Given the description of an element on the screen output the (x, y) to click on. 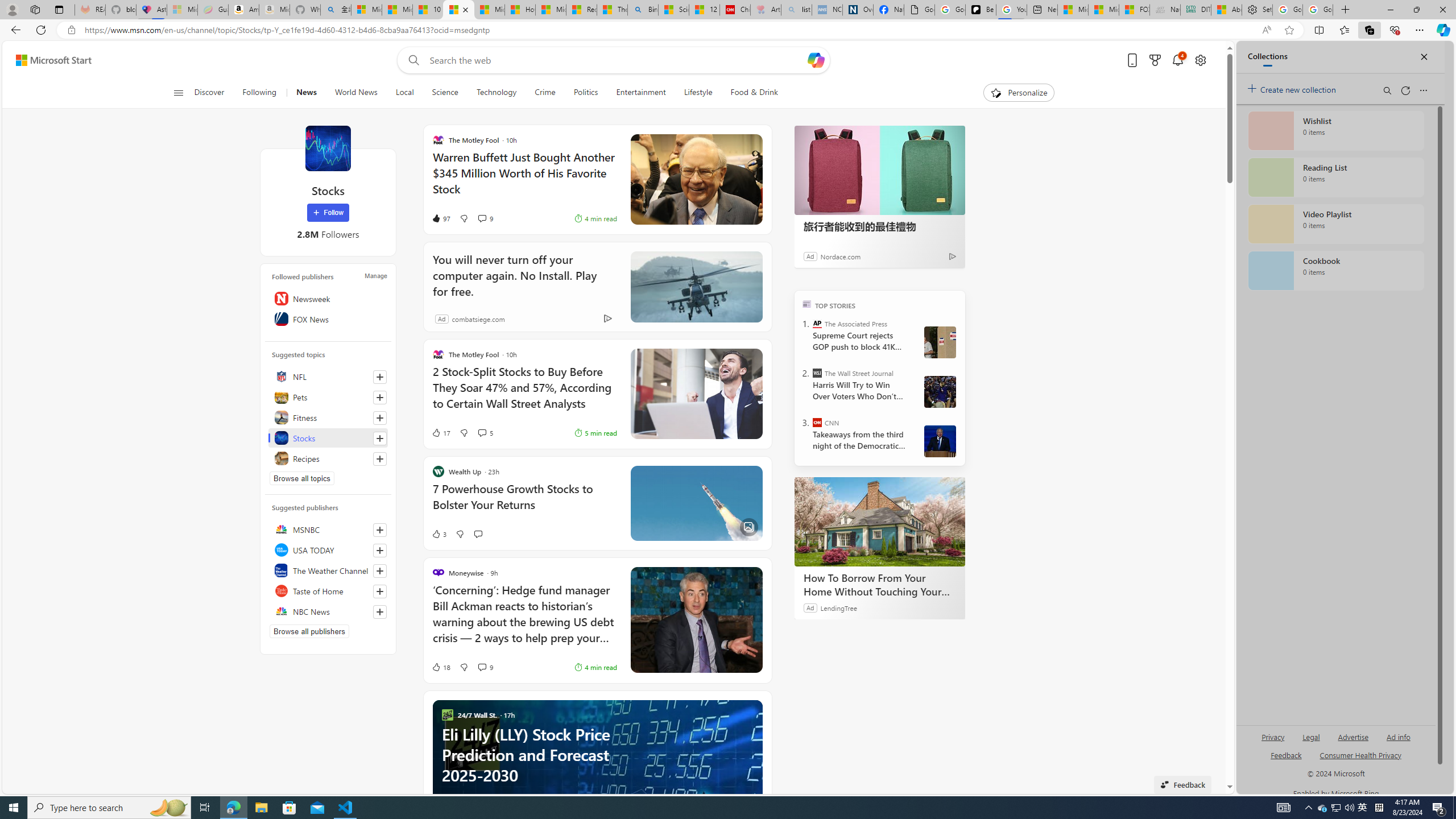
Politics (585, 92)
Fitness (327, 417)
NBC News (327, 610)
View comments 9 Comment (481, 666)
How To Borrow From Your Home Without Touching Your Mortgage (879, 584)
Stocks - MSN (458, 9)
Web search (411, 60)
Google Analytics Opt-out Browser Add-on Download Page (919, 9)
